Given the description of an element on the screen output the (x, y) to click on. 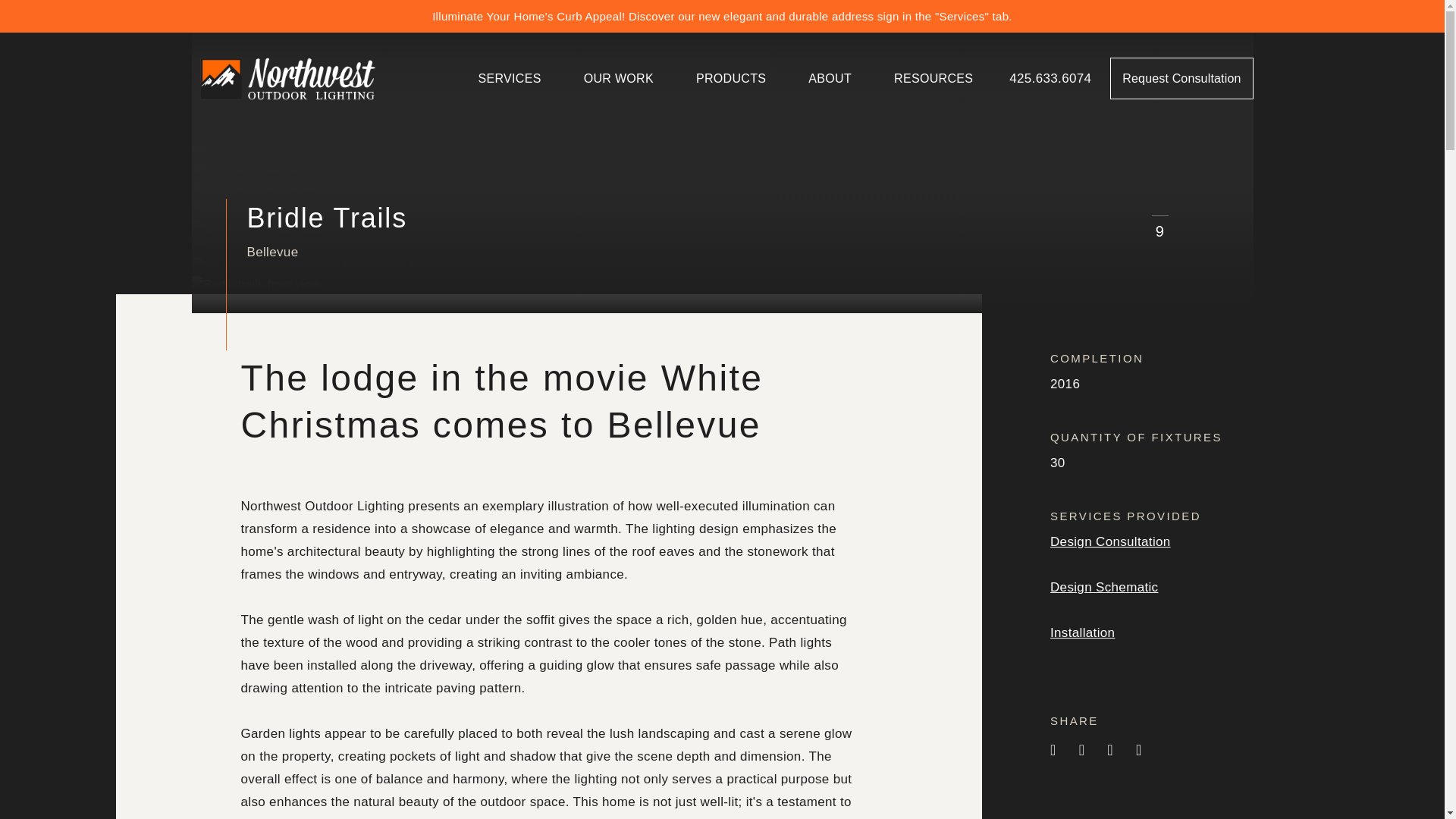
Request Consultation (1180, 78)
Next (1192, 230)
Installation (1082, 632)
SERVICES (509, 77)
Previous (1126, 230)
425.633.6074 (1049, 77)
Design Schematic (1103, 586)
PRODUCTS (730, 77)
OUR WORK (618, 77)
ABOUT (829, 77)
